Given the description of an element on the screen output the (x, y) to click on. 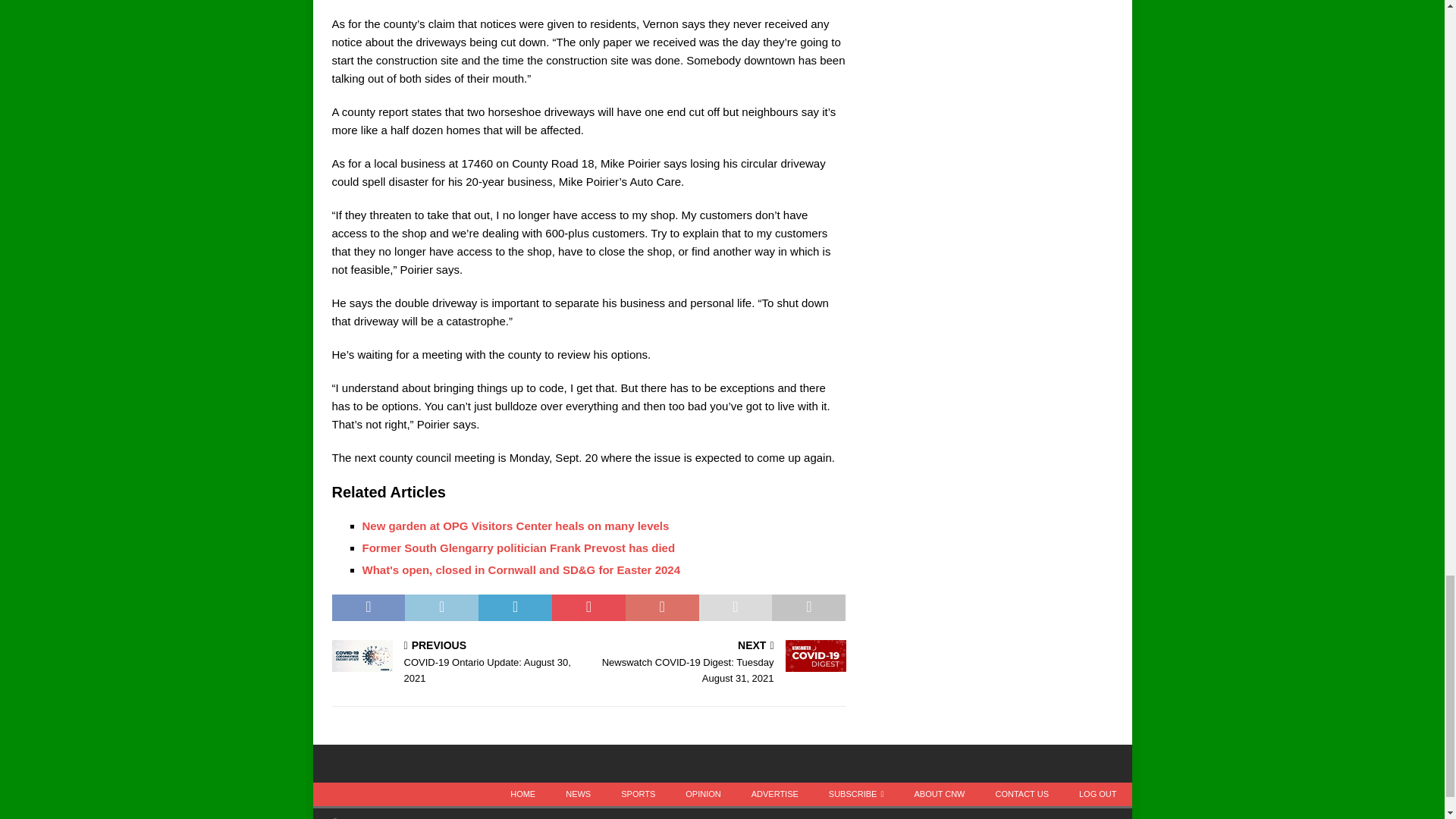
New garden at OPG Visitors Center heals on many levels (515, 525)
Former South Glengarry politician Frank Prevost has died (518, 547)
